Given the description of an element on the screen output the (x, y) to click on. 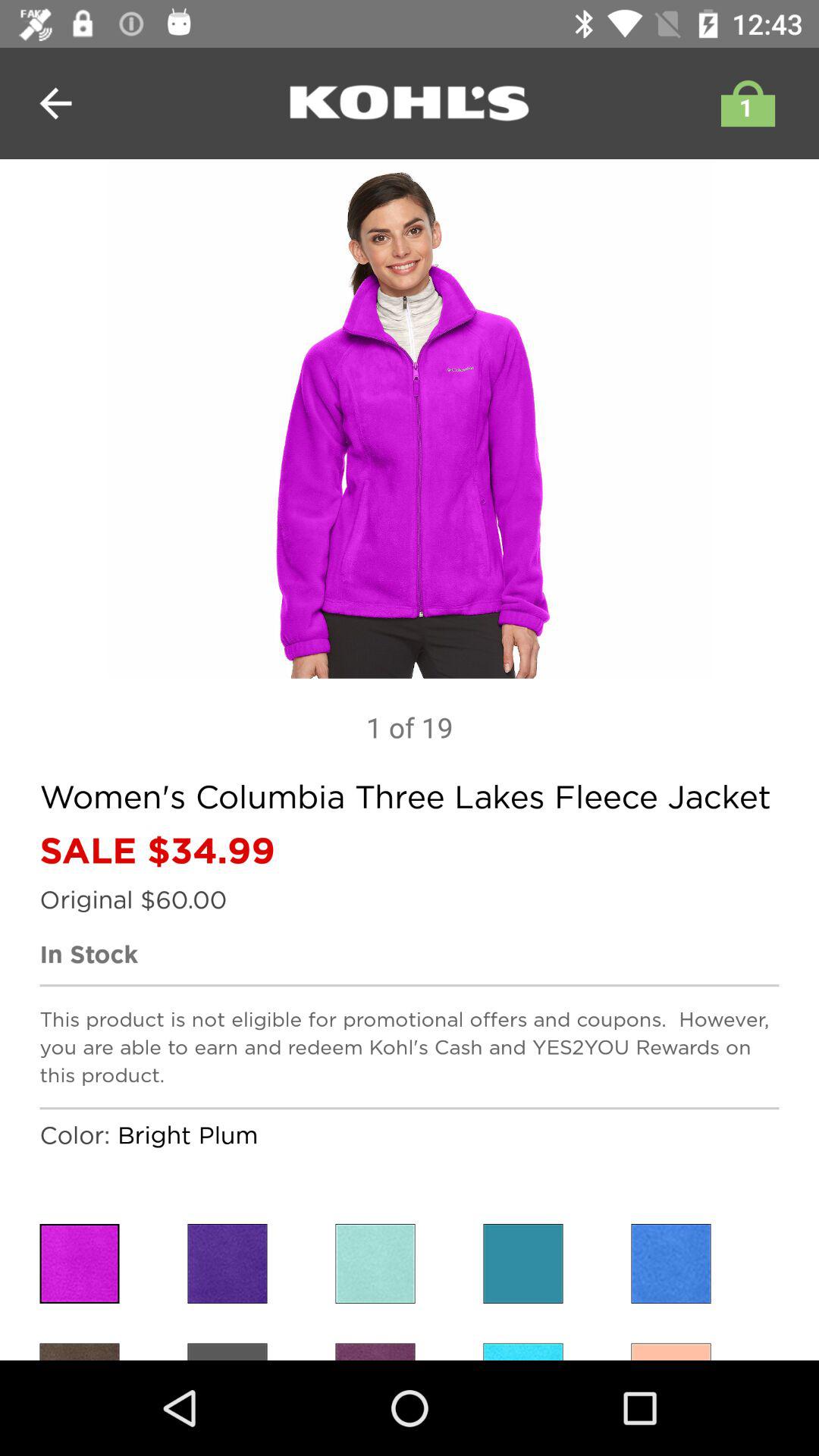
change the color to lighjt blue (375, 1263)
